Given the description of an element on the screen output the (x, y) to click on. 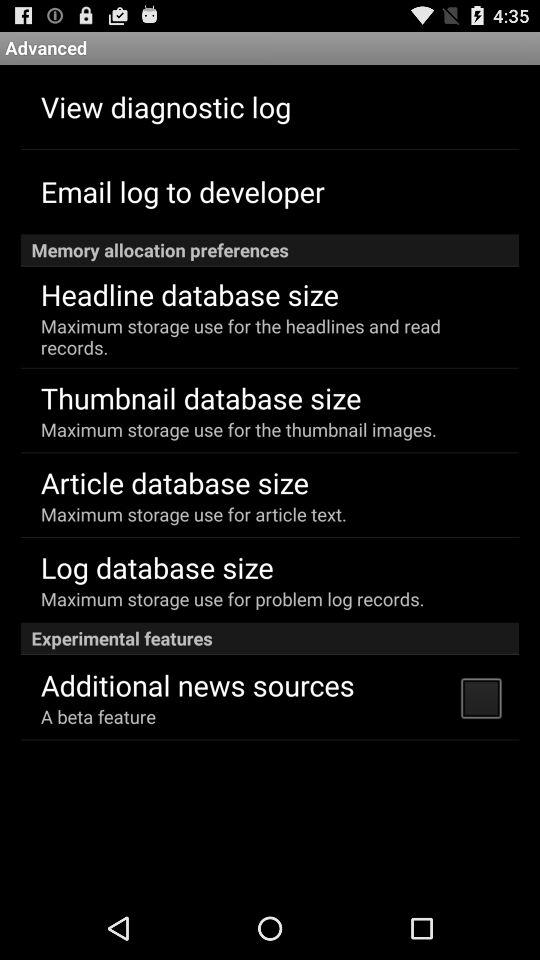
turn on app next to additional news sources item (480, 697)
